Given the description of an element on the screen output the (x, y) to click on. 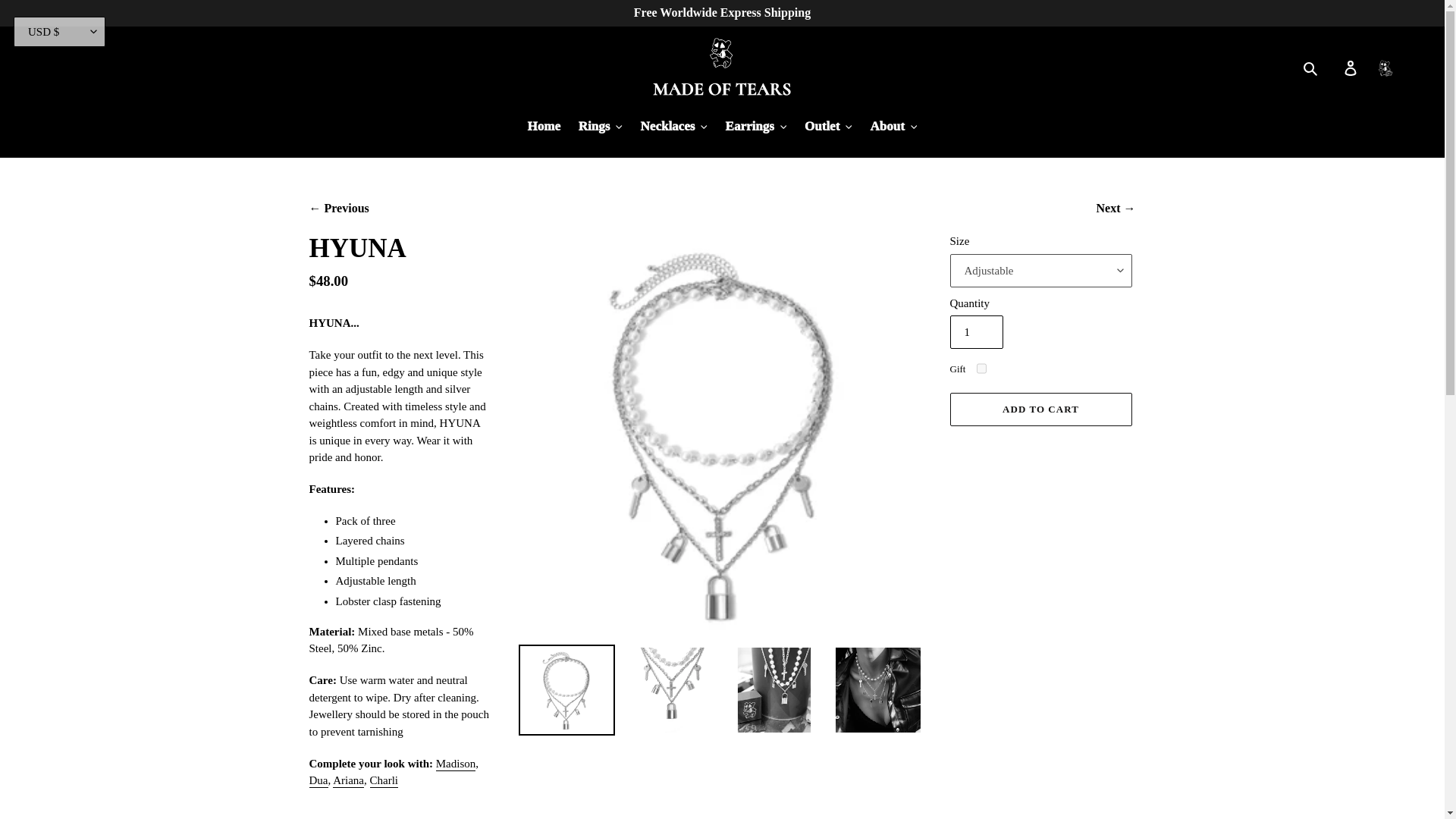
Home (543, 127)
1 (976, 331)
Log in (1351, 67)
Search (1316, 67)
